Given the description of an element on the screen output the (x, y) to click on. 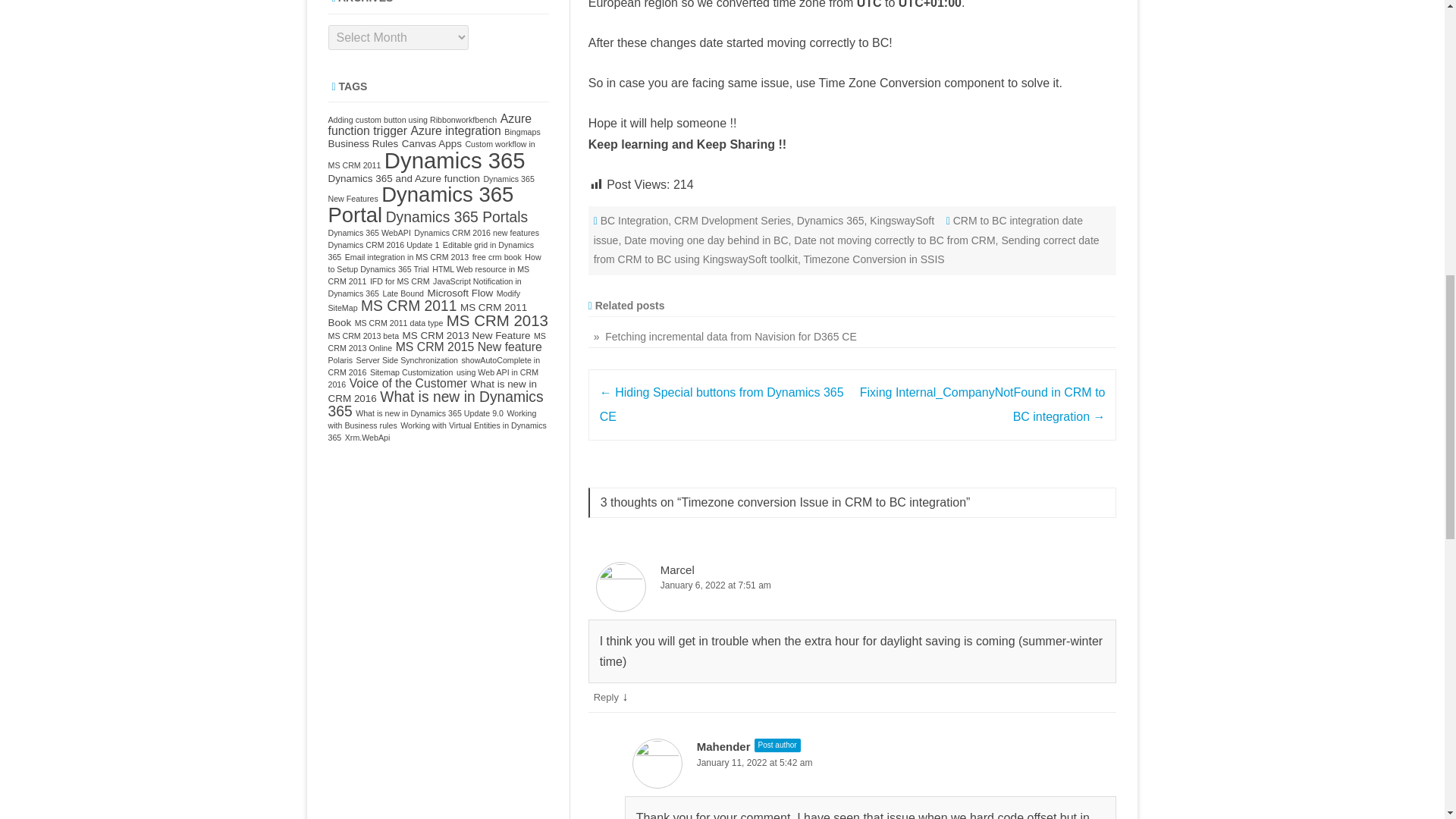
Date not moving correctly to BC from CRM (893, 239)
January 6, 2022 at 7:51 am (852, 585)
Reply (606, 696)
CRM Dvelopment Series (732, 220)
CRM to BC integration date issue (838, 230)
Timezone Conversion in SSIS (873, 259)
BC Integration (633, 220)
Mahender (724, 746)
Date moving one day behind in BC (705, 239)
Dynamics 365 (830, 220)
KingswaySoft (901, 220)
